Given the description of an element on the screen output the (x, y) to click on. 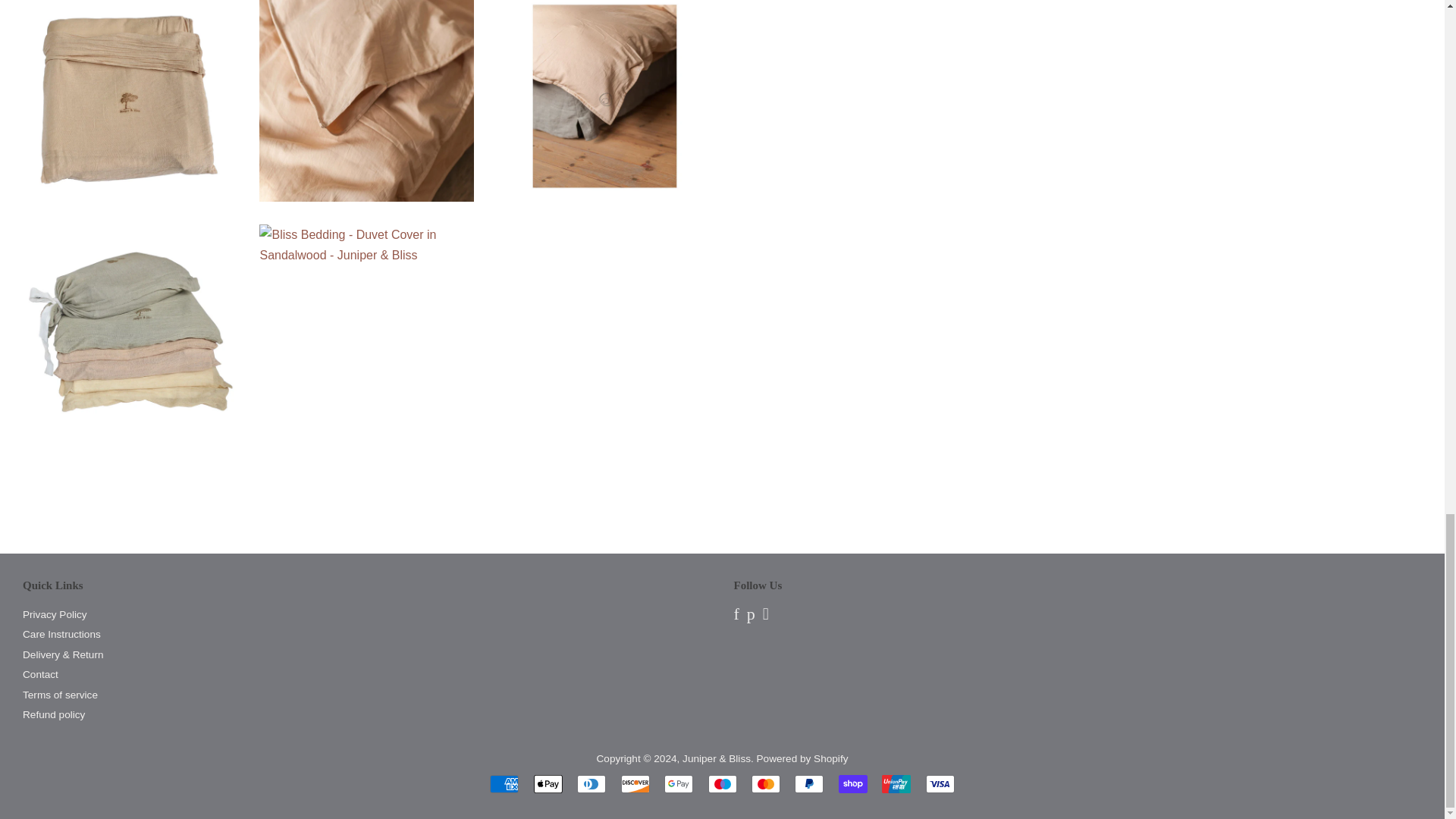
Powered by Shopify (802, 758)
American Express (503, 783)
Apple Pay (548, 783)
PayPal (809, 783)
Maestro (721, 783)
Mastercard (765, 783)
Union Pay (896, 783)
Contact (40, 674)
Care Instructions (61, 633)
Diners Club (590, 783)
